Given the description of an element on the screen output the (x, y) to click on. 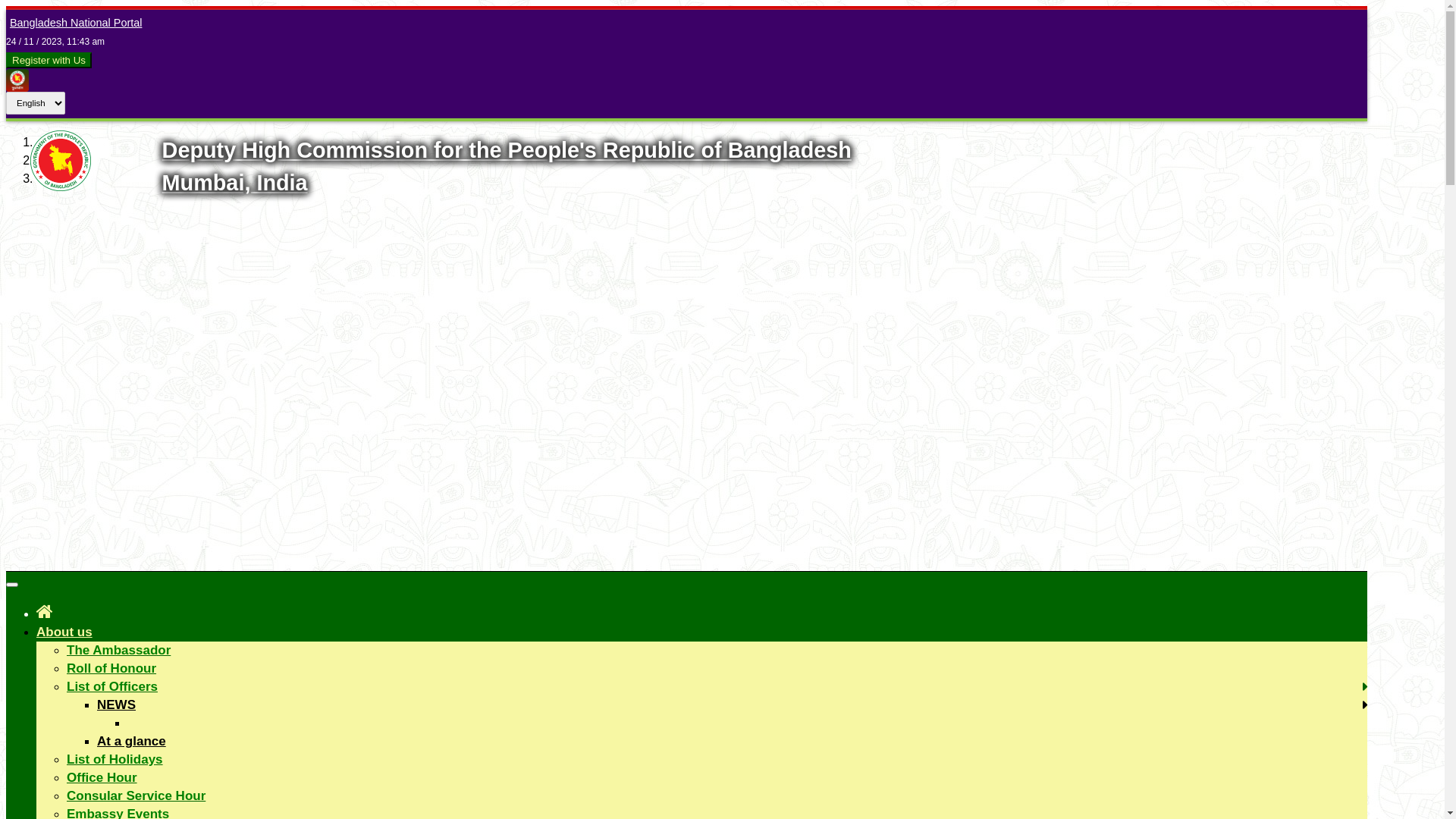
List of Officers Element type: text (111, 686)
NEWS Element type: text (116, 704)
Register with Us Element type: text (48, 60)
Home Element type: hover (44, 611)
Office Hour Element type: text (101, 777)
Bangladesh National Portal Element type: text (73, 22)
The Ambassador Element type: text (118, 650)
Consular Service Hour Element type: text (135, 795)
About us Element type: text (64, 631)
Register with Us Element type: text (48, 59)
Logo Element type: hover (60, 186)
Roll of Honour Element type: text (111, 668)
At a glance Element type: text (131, 741)
List of Holidays Element type: text (114, 759)
